Given the description of an element on the screen output the (x, y) to click on. 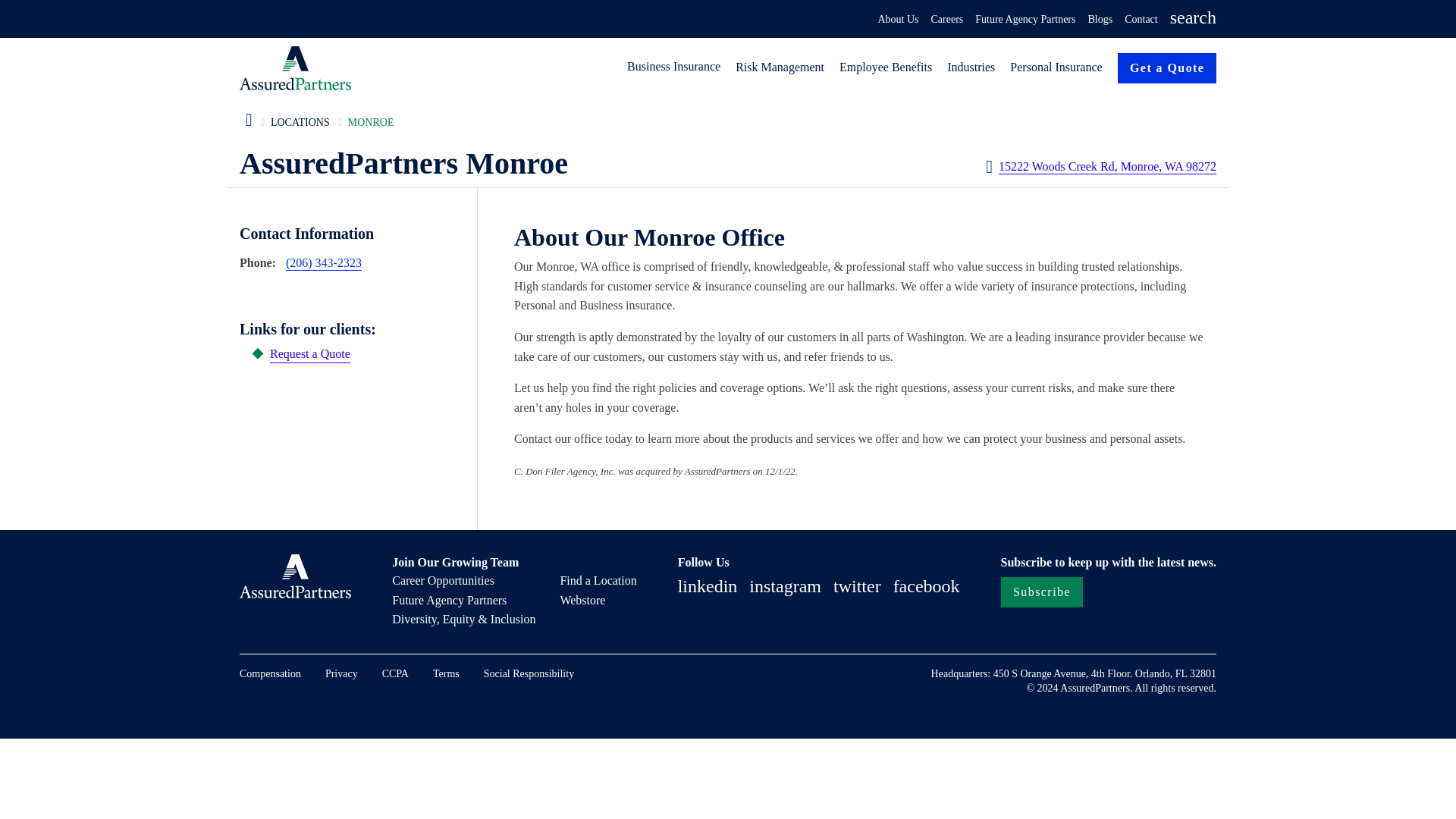
Find a Location (597, 580)
Blogs (1099, 19)
Privacy (341, 673)
Future Agency Partners (1025, 19)
Shop for AssuredPartners Apparel (582, 600)
Business Insurance (675, 66)
Career Opportunities (443, 580)
About Us (897, 19)
Terms (446, 673)
Careers (947, 19)
Contact (1140, 19)
search (1192, 19)
Future Agency Partners (448, 600)
Compensation (270, 673)
CCPA (395, 673)
